Given the description of an element on the screen output the (x, y) to click on. 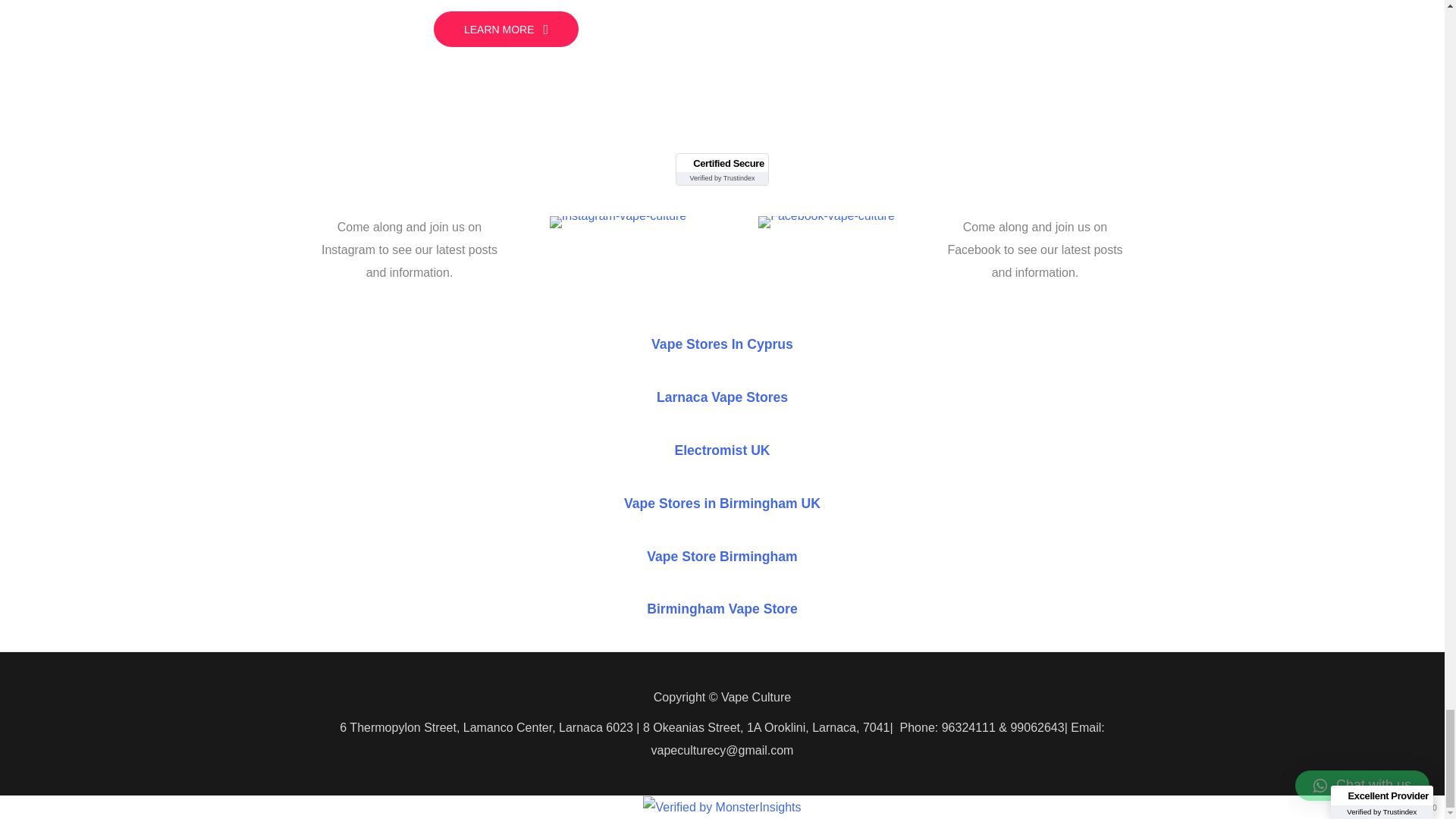
LEARN MORE (505, 29)
Electromist UK (722, 450)
Larnaca Vape Stores (721, 396)
Instagram-vape-culture (618, 222)
Vape Stores In Cyprus (721, 344)
Facebook-vape-culture (826, 222)
Vape Store Birmingham (721, 555)
Vape Stores in Birmingham UK (722, 503)
